Given the description of an element on the screen output the (x, y) to click on. 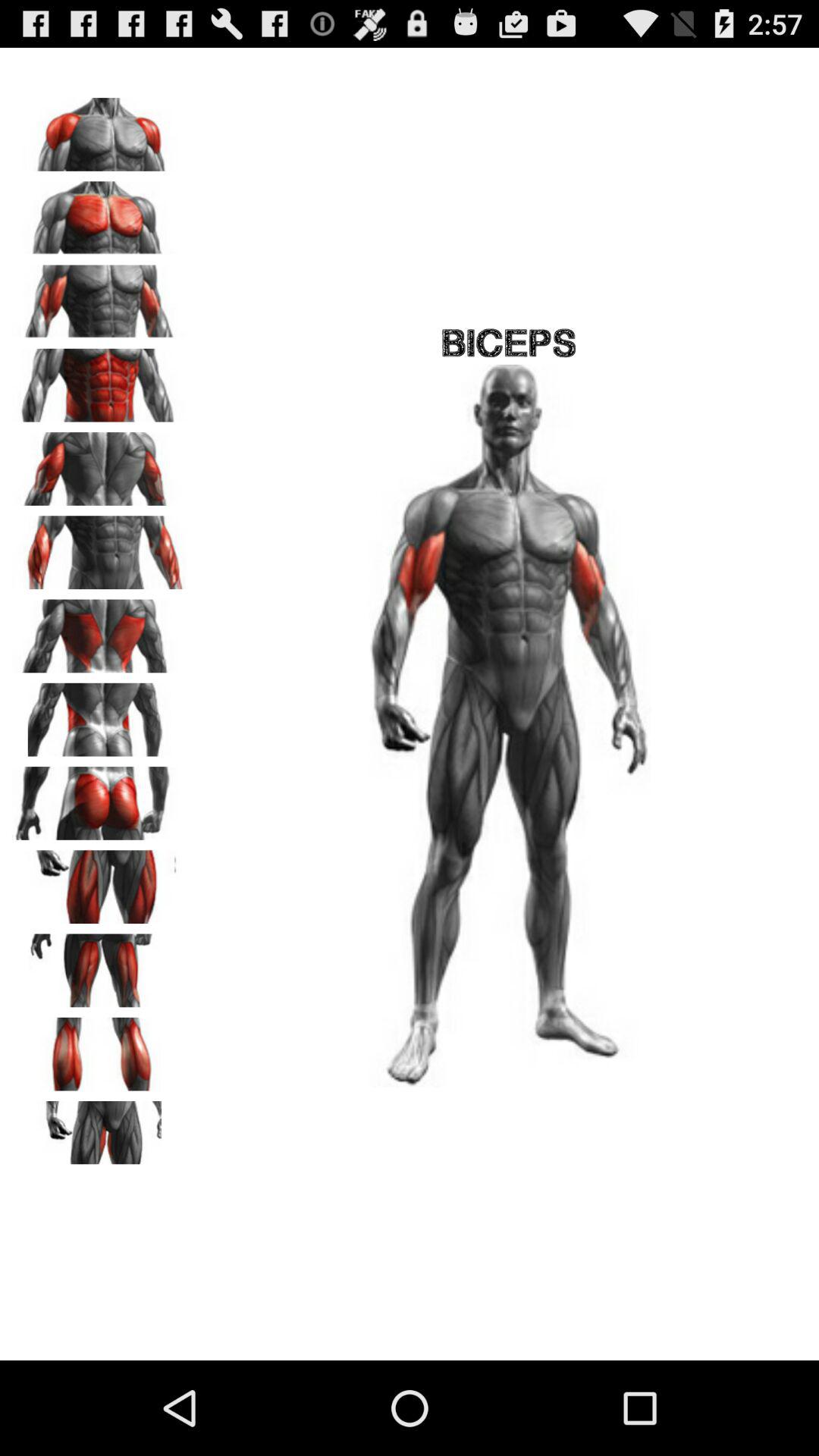
back side of the body (99, 463)
